Given the description of an element on the screen output the (x, y) to click on. 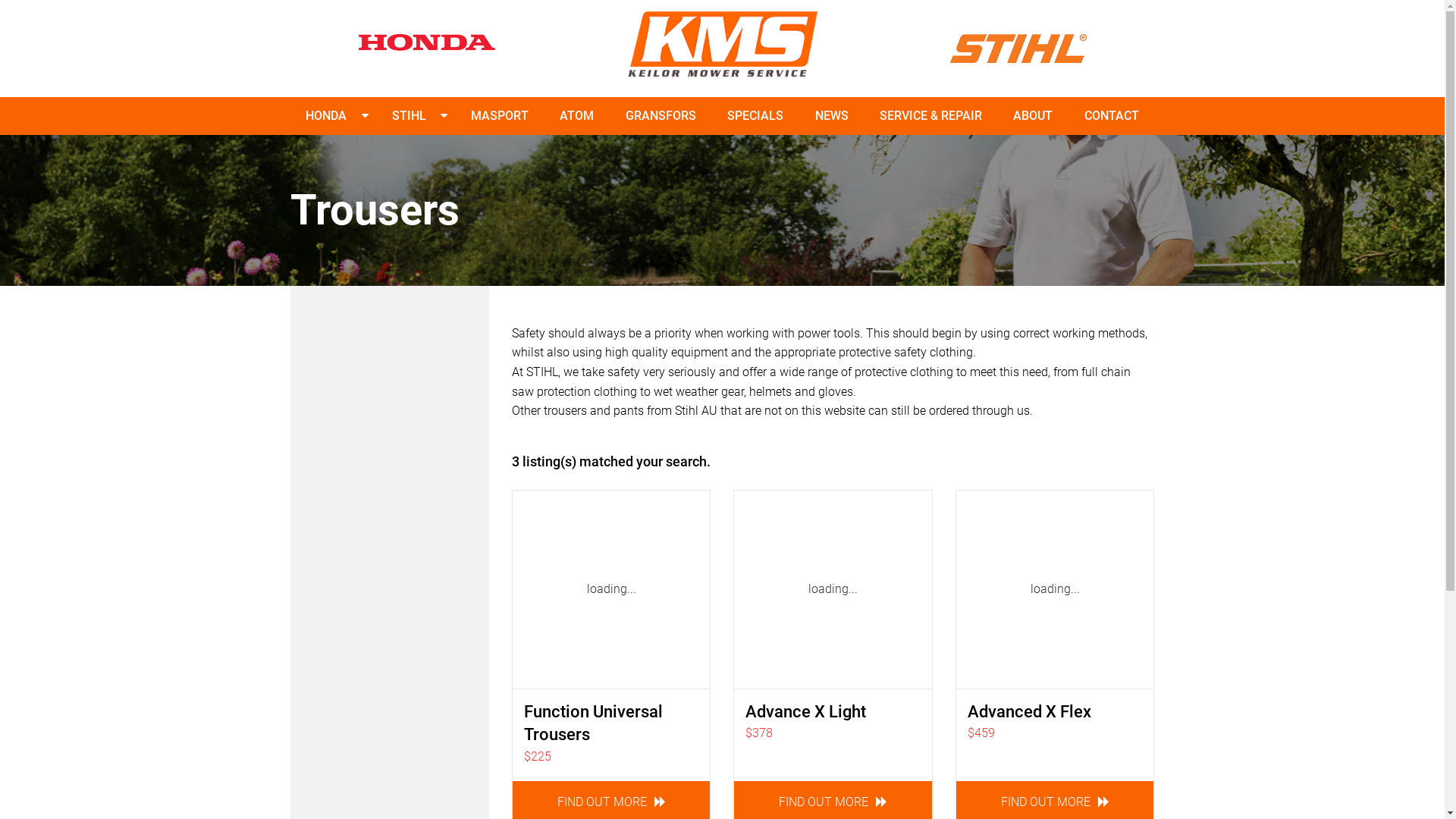
CONTACT Element type: text (1111, 115)
HONDA Element type: text (325, 115)
ABOUT Element type: text (1032, 115)
NEWS Element type: text (831, 115)
SPECIALS Element type: text (754, 115)
MASPORT Element type: text (499, 115)
GRANSFORS Element type: text (660, 115)
SERVICE & REPAIR Element type: text (930, 115)
ATOM Element type: text (576, 115)
STIHL Element type: text (408, 115)
